Given the description of an element on the screen output the (x, y) to click on. 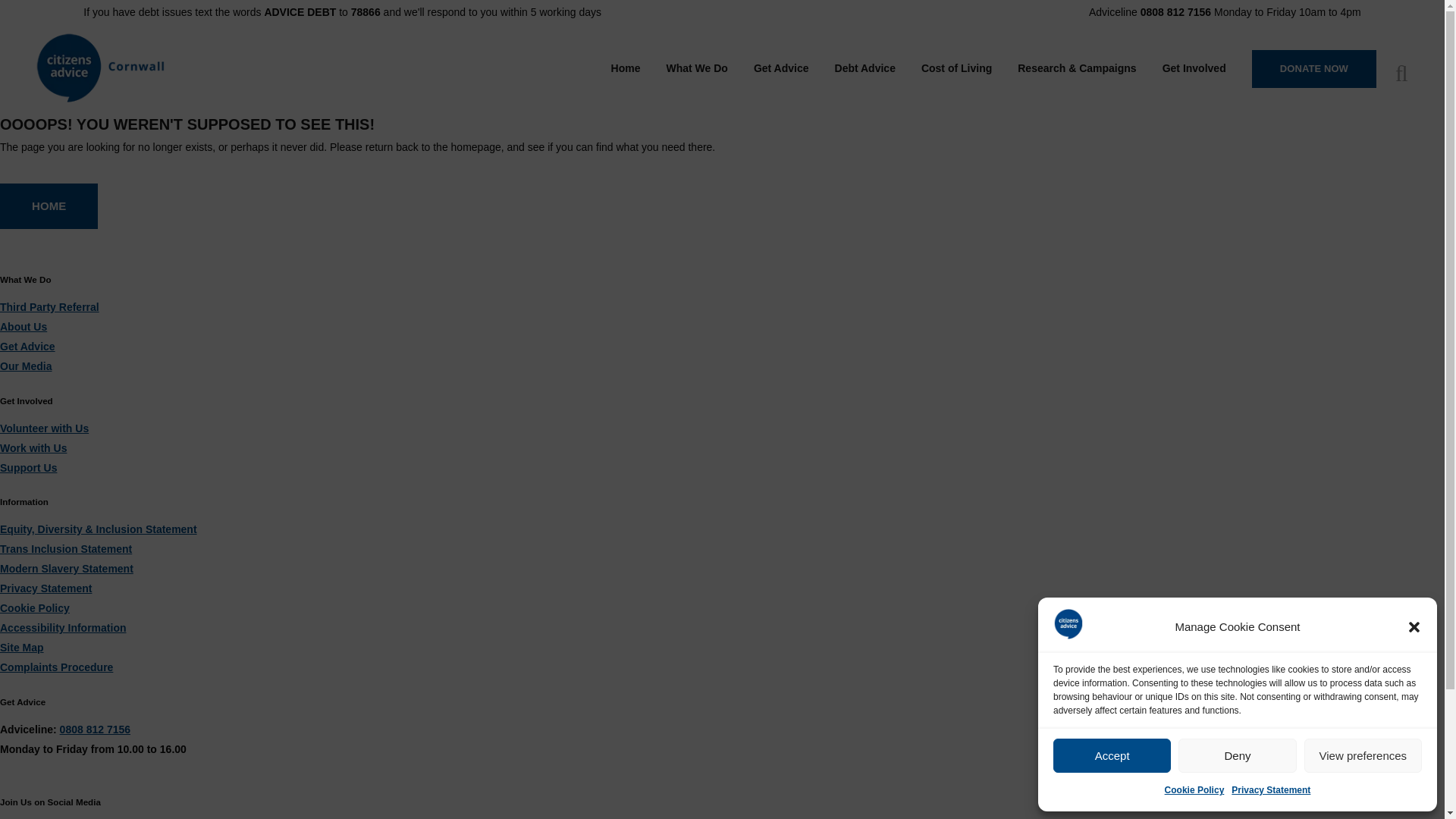
What We Do (697, 68)
Get Advice (781, 68)
Privacy Statement (1270, 790)
DONATE NOW (1313, 68)
Cost of Living (956, 68)
Deny (1236, 755)
Cookie Policy (1194, 790)
View preferences (1363, 755)
Debt Advice (865, 68)
Accept (1111, 755)
